Given the description of an element on the screen output the (x, y) to click on. 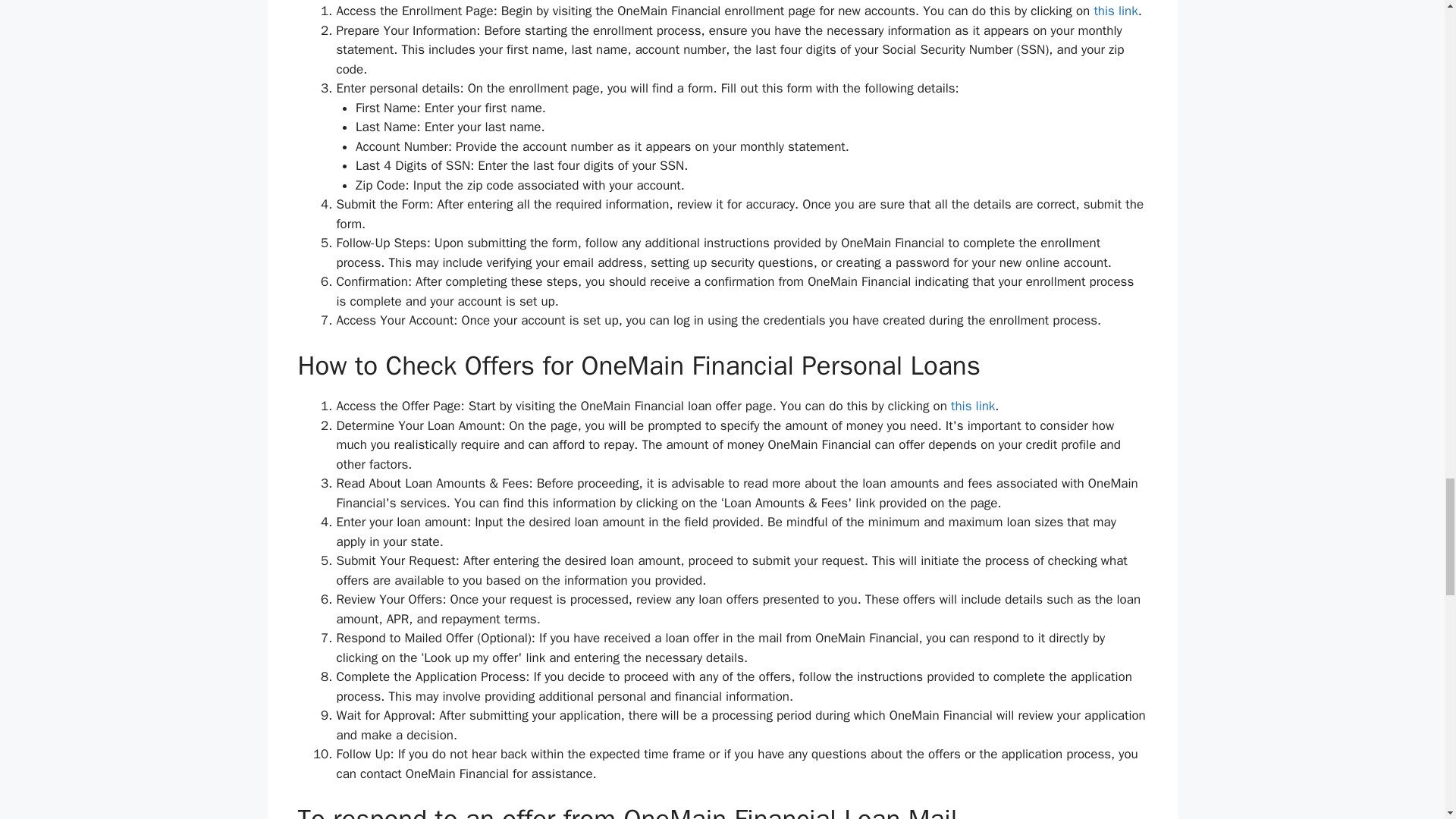
this link (1115, 10)
this link (972, 406)
